Given the description of an element on the screen output the (x, y) to click on. 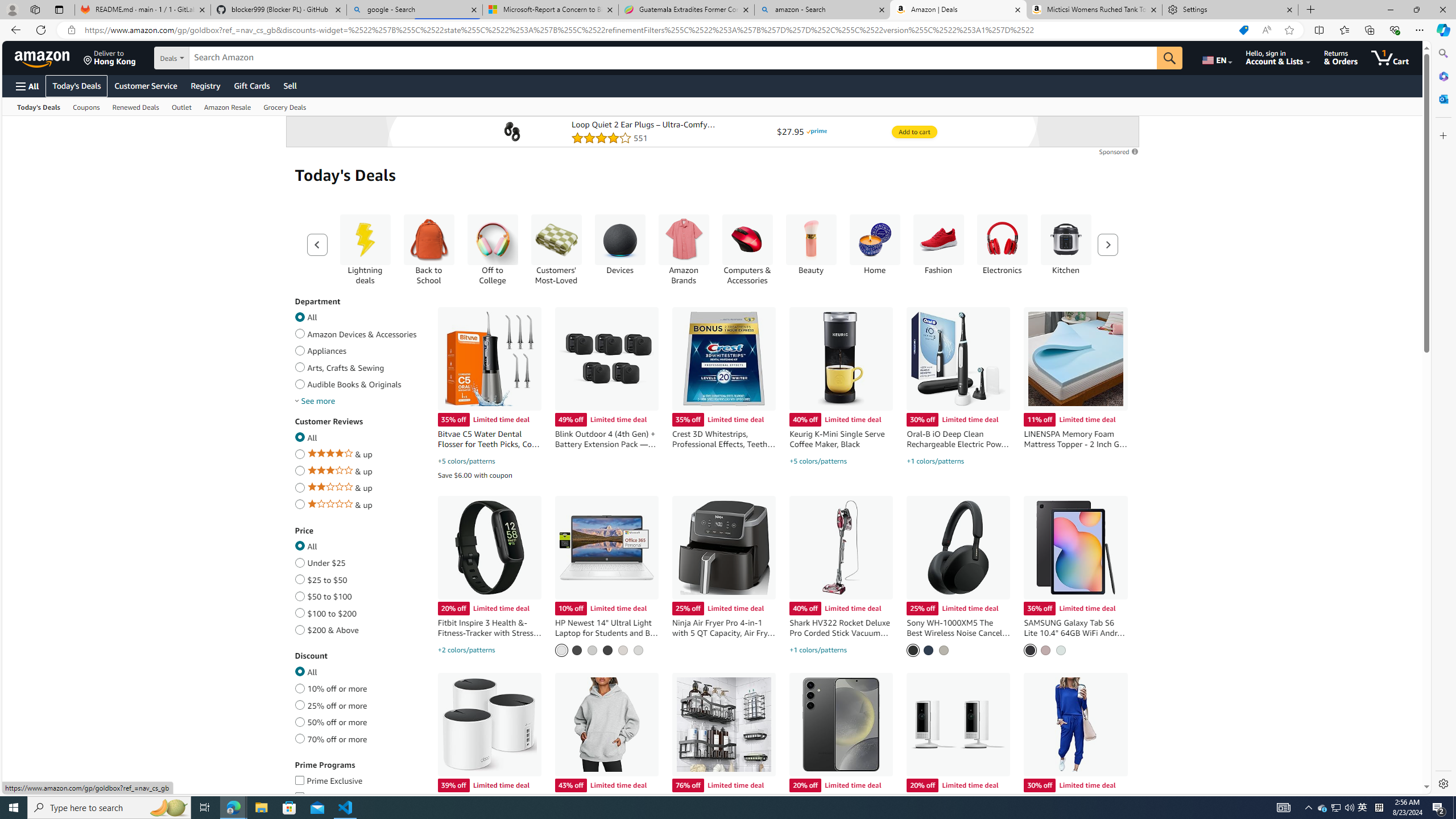
Gift Cards (251, 85)
$200 & Above (299, 627)
Silver (943, 649)
8GB RAM | 256GB SSD (591, 649)
Amazon Devices & Accessories (299, 331)
Deliver to Hong Kong (109, 57)
Customers' Most-Loved (555, 239)
